Given the description of an element on the screen output the (x, y) to click on. 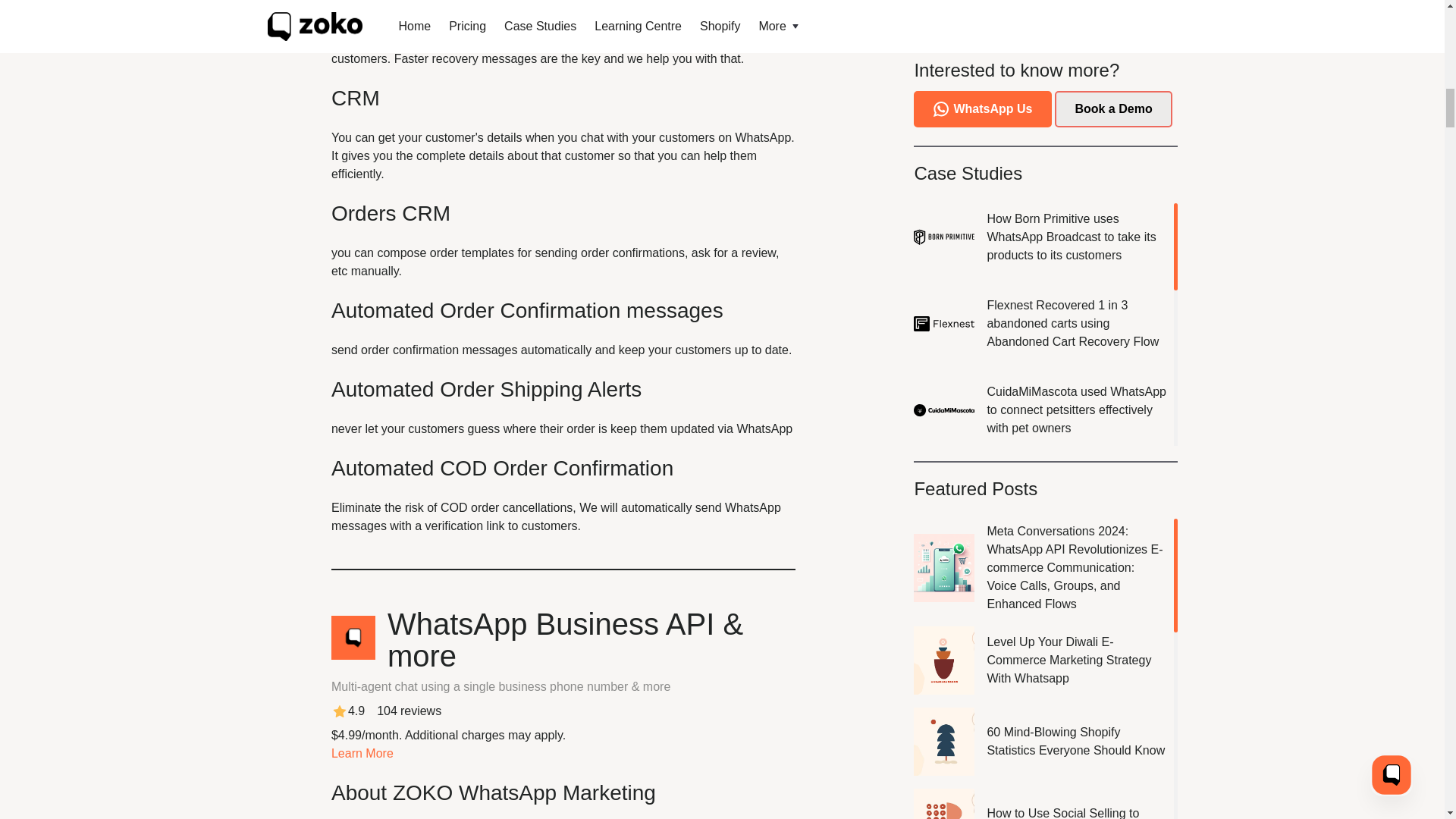
Learn More (362, 753)
